Given the description of an element on the screen output the (x, y) to click on. 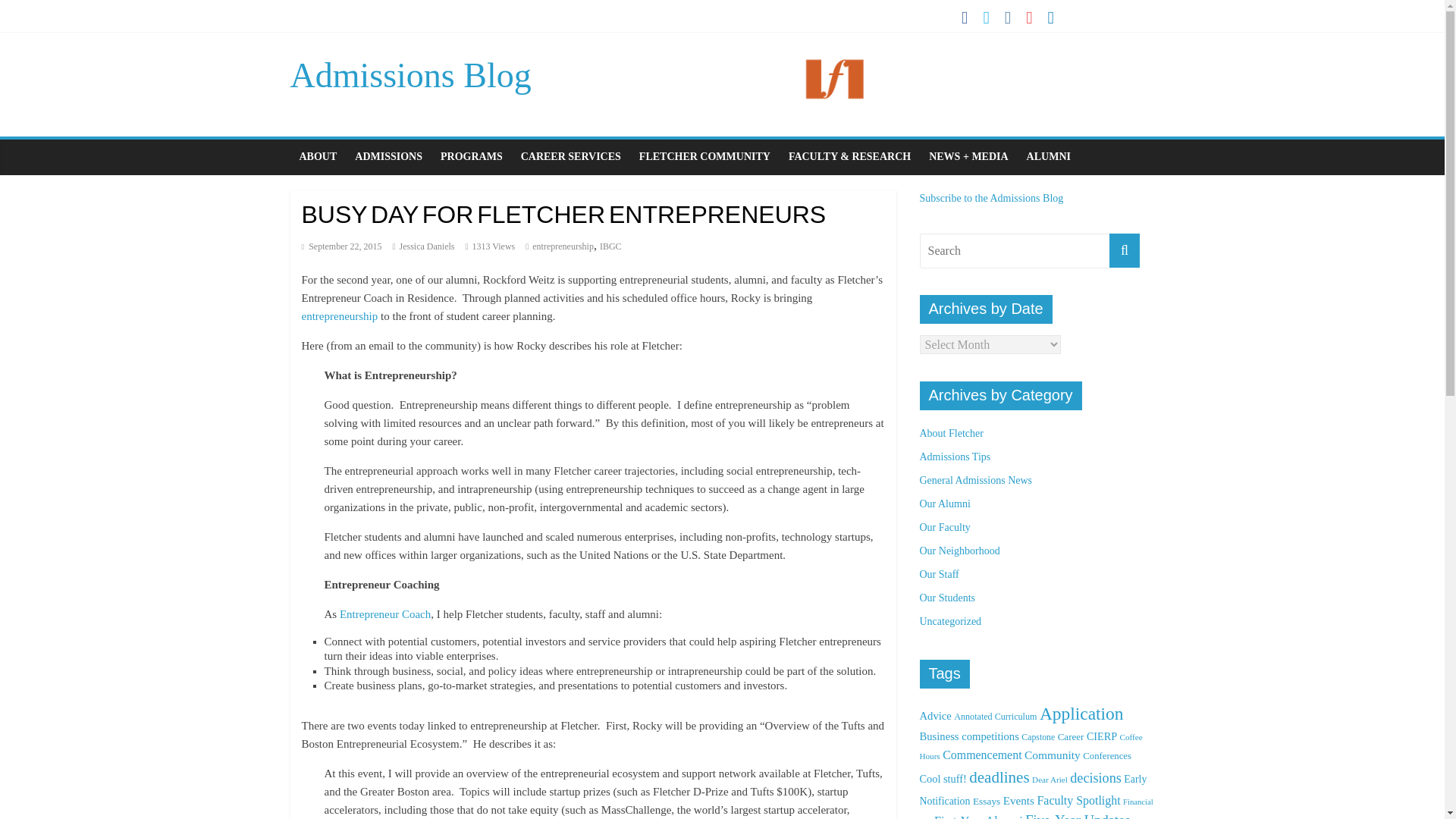
Our Staff (938, 573)
Our Faculty (943, 527)
September 22, 2015 (341, 245)
Subscribe to the Admissions Blog (990, 197)
General Admissions News (975, 480)
What's happening now in the Admissions Office. (975, 480)
General information about the School. (950, 432)
CAREER SERVICES (571, 156)
Our Students (946, 597)
ADMISSIONS (388, 156)
entrepreneurship (563, 245)
IBGC (610, 245)
Our Alumni (943, 503)
ABOUT (317, 156)
